Given the description of an element on the screen output the (x, y) to click on. 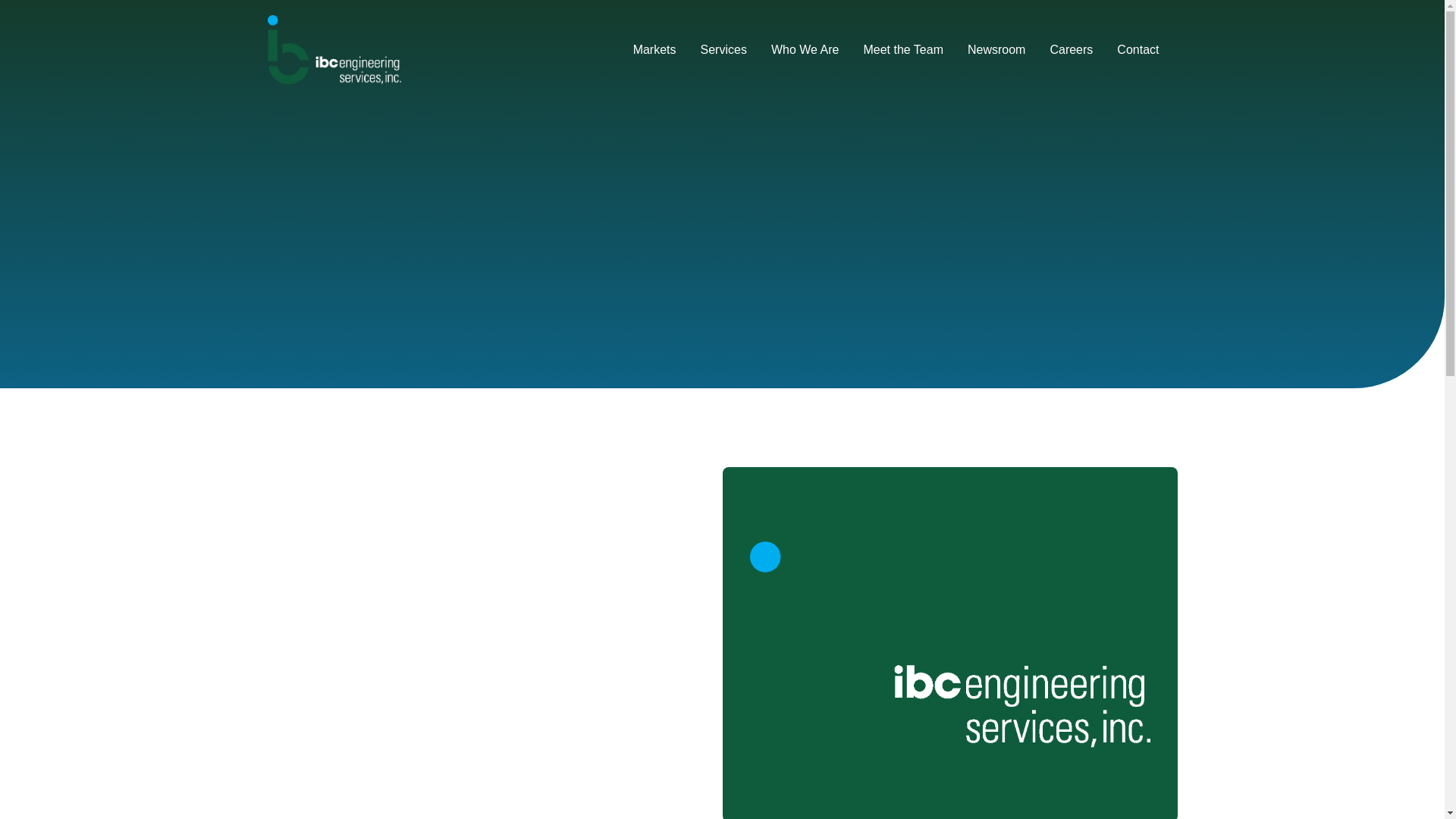
Contact (1137, 49)
Who We Are (805, 49)
Markets (654, 49)
Services (723, 49)
Newsroom (995, 49)
Careers (1071, 49)
Meet the Team (903, 49)
